Given the description of an element on the screen output the (x, y) to click on. 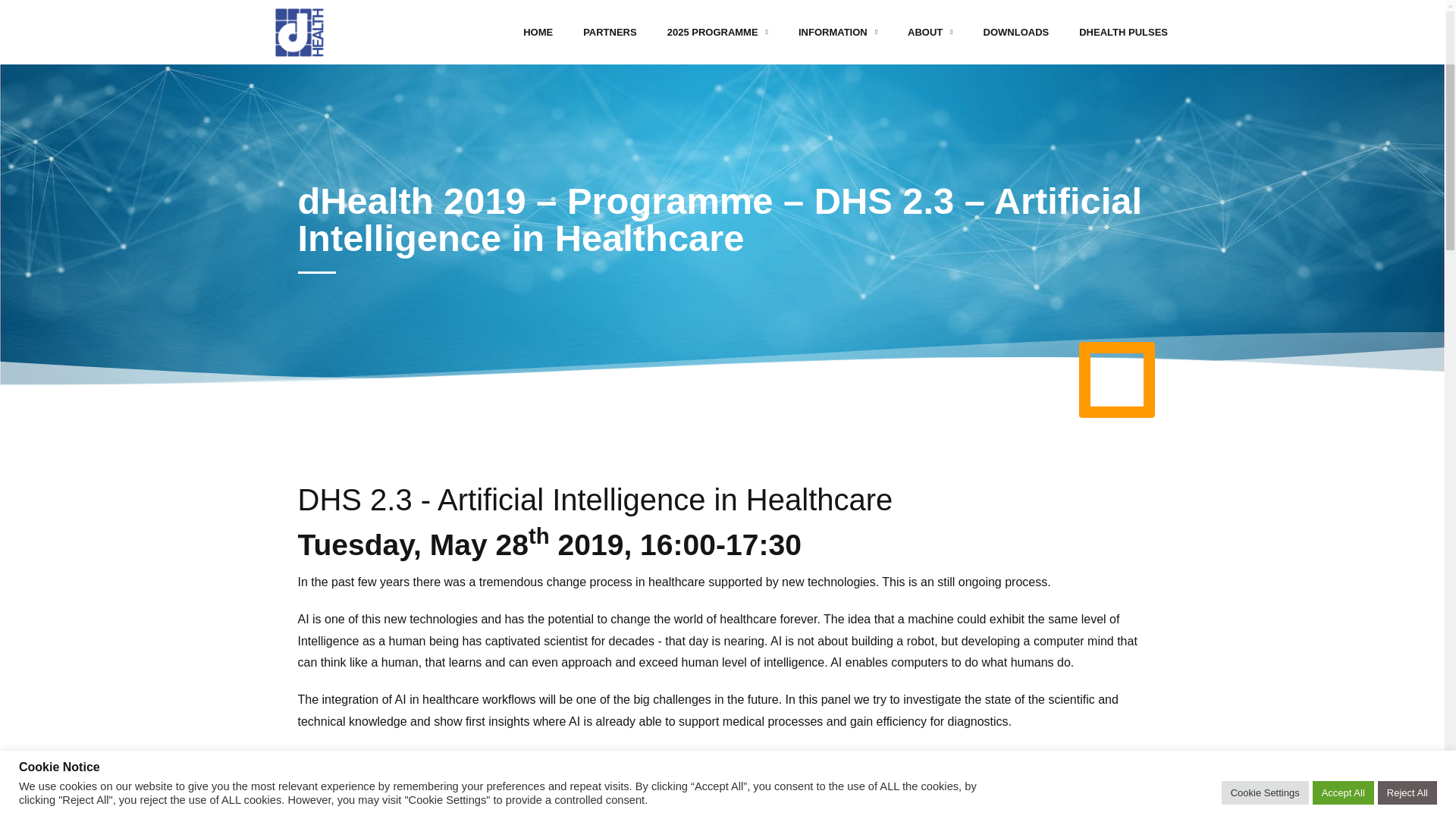
INFORMATION (837, 32)
PARTNERS (609, 32)
ABOUT (930, 32)
DHEALTH PULSES (1123, 32)
2025 PROGRAMME (717, 32)
DOWNLOADS (1016, 32)
HOME (537, 32)
